Given the description of an element on the screen output the (x, y) to click on. 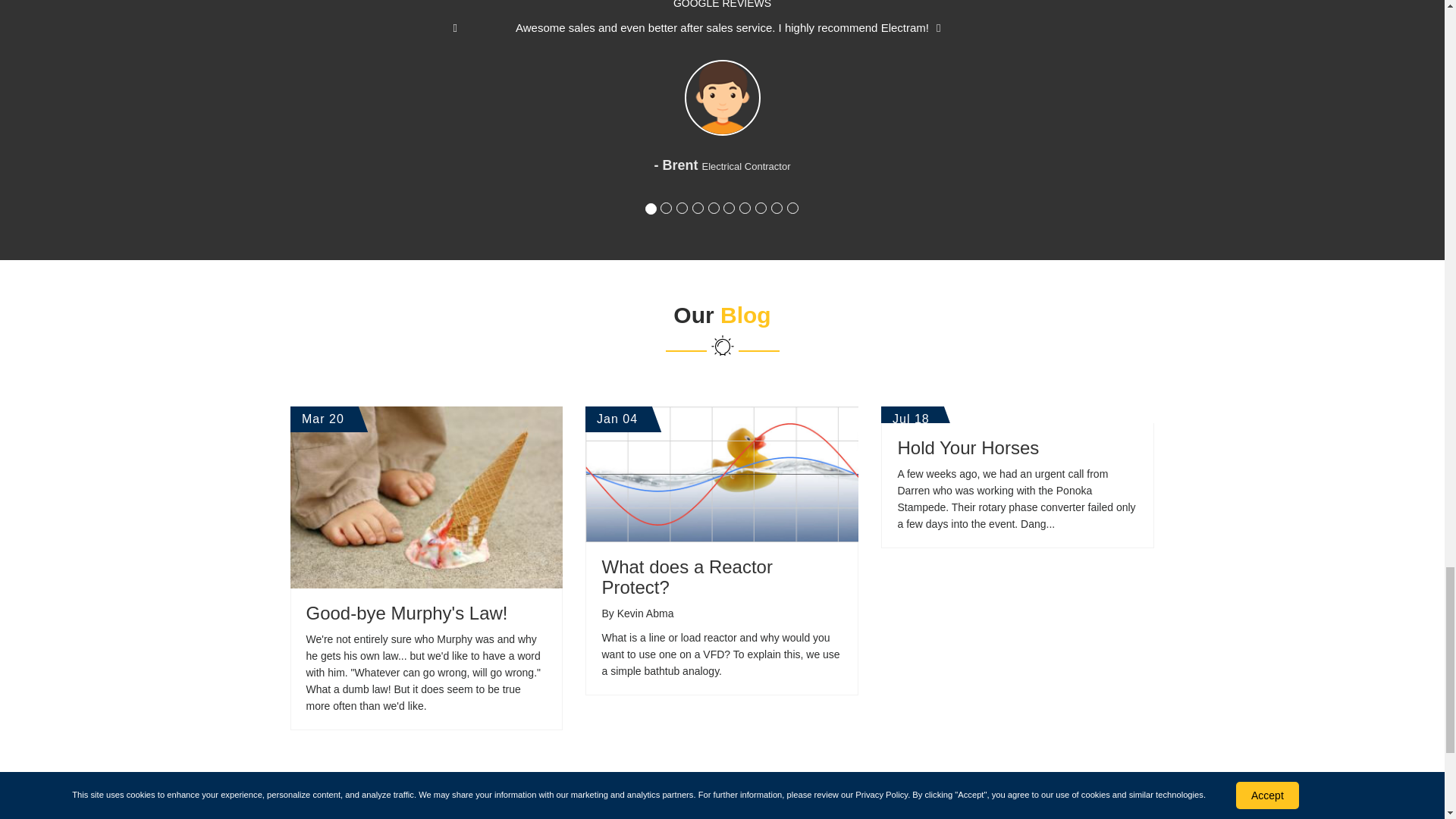
Mar 20 (425, 497)
Our Blog (721, 338)
Jul 18 (1017, 414)
Hold Your Horses (967, 447)
Good-bye Murphy's Law! (406, 612)
What does a Reactor Protect? (686, 576)
Jan 04 (722, 474)
